Given the description of an element on the screen output the (x, y) to click on. 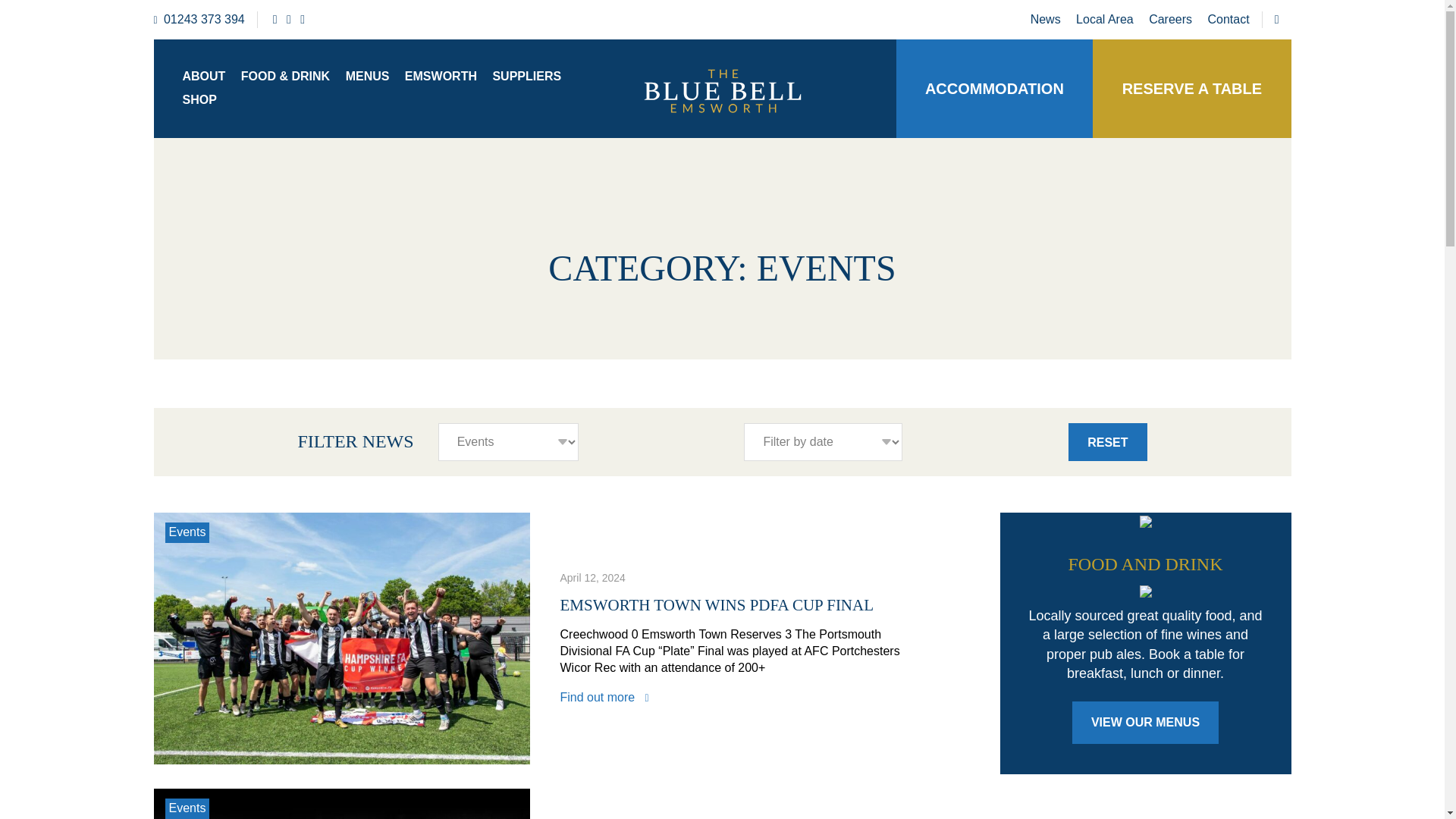
Menus (1144, 722)
SUPPLIERS (526, 76)
News (1045, 19)
  01243 373 394 (198, 19)
Find out more   (603, 697)
Local Area (1104, 19)
Contact (1228, 19)
MENUS (367, 76)
ACCOMMODATION (994, 88)
EMSWORTH TOWN WINS PDFA CUP FINAL (716, 605)
SHOP (199, 99)
EMSWORTH (440, 76)
Events (187, 532)
RESET (1107, 442)
RESERVE A TABLE (1192, 88)
